Given the description of an element on the screen output the (x, y) to click on. 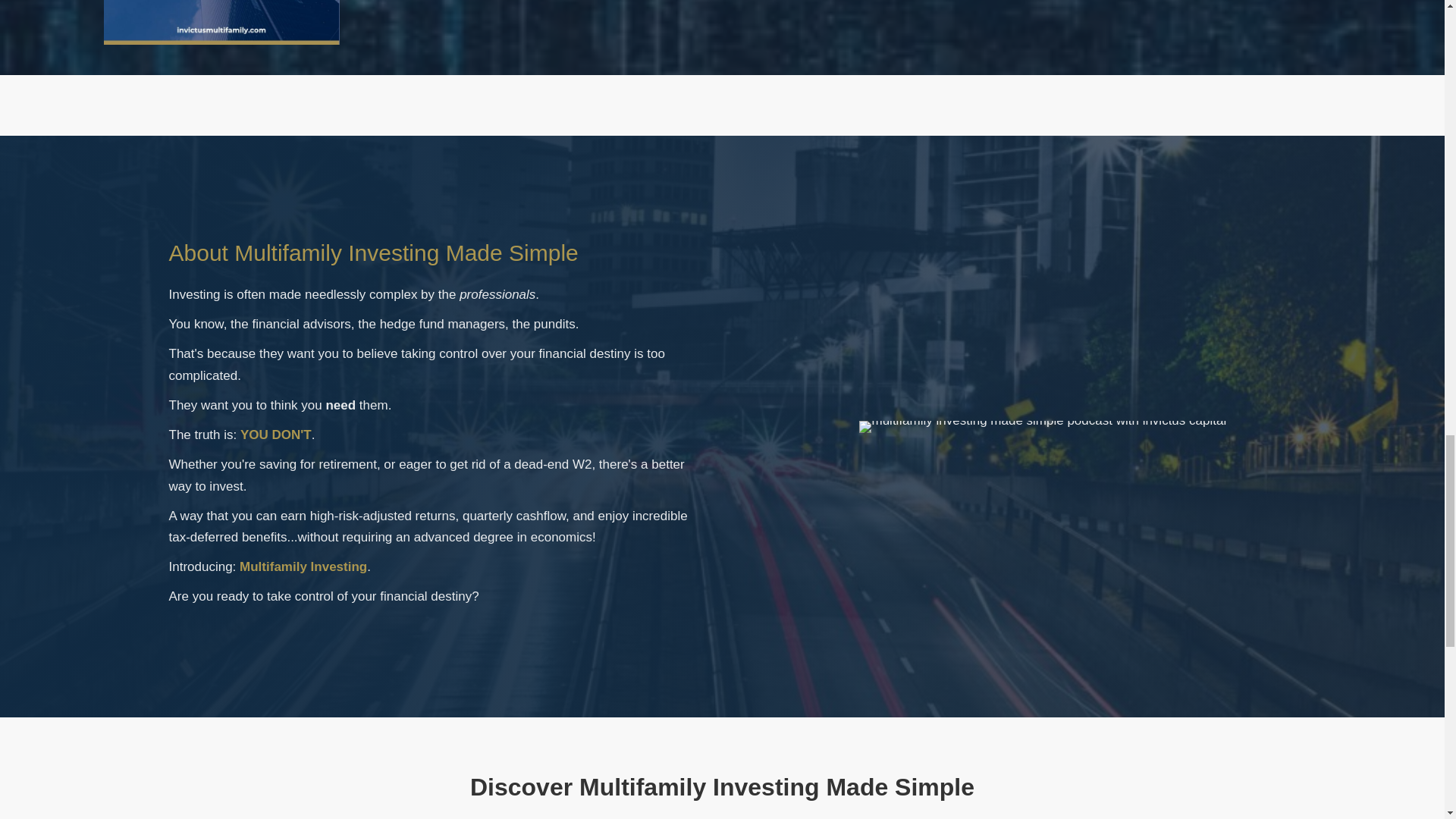
the 5 rules of investing (221, 22)
